Given the description of an element on the screen output the (x, y) to click on. 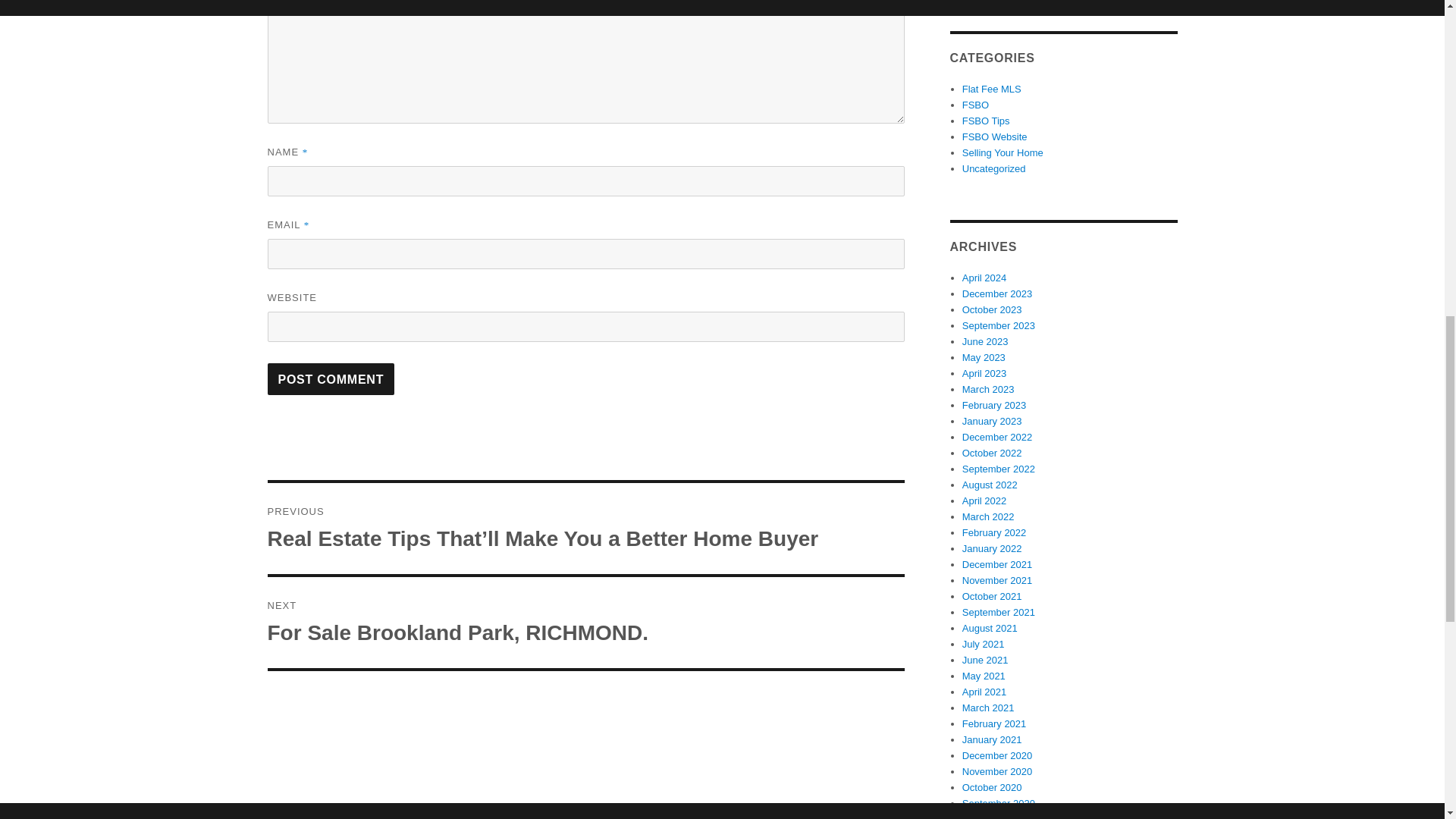
Post Comment (330, 378)
Flat Fee MLS (992, 89)
Post Comment (330, 378)
FSBO (585, 622)
